Given the description of an element on the screen output the (x, y) to click on. 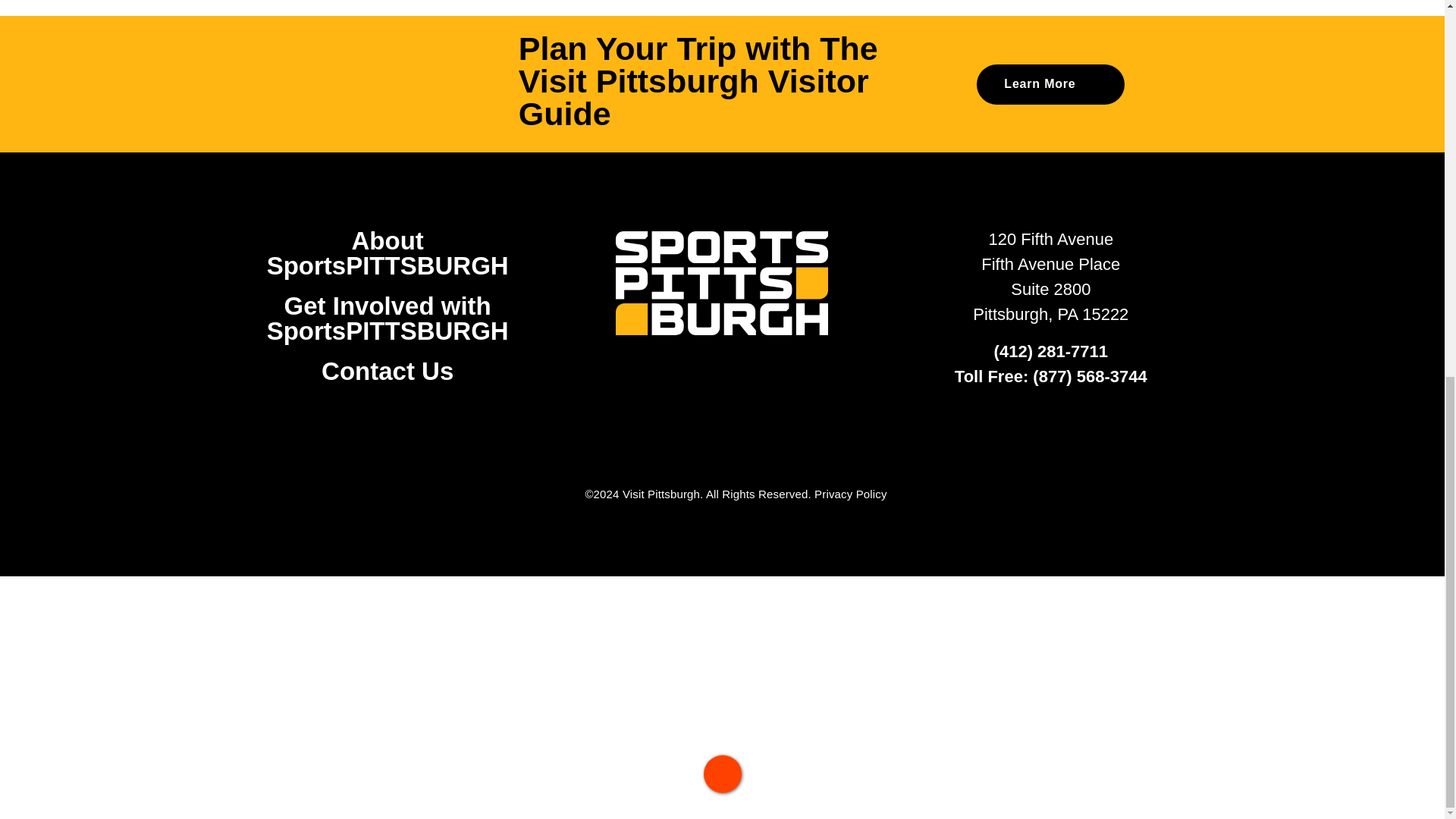
About SportsPITTSBURGH (387, 253)
Privacy Policy (849, 493)
Learn More (1050, 84)
Contact Us (386, 370)
Plan Your Trip with The Visit Pittsburgh Visitor Guide (721, 84)
Get Involved with SportsPITTSBURGH (387, 317)
